Given the description of an element on the screen output the (x, y) to click on. 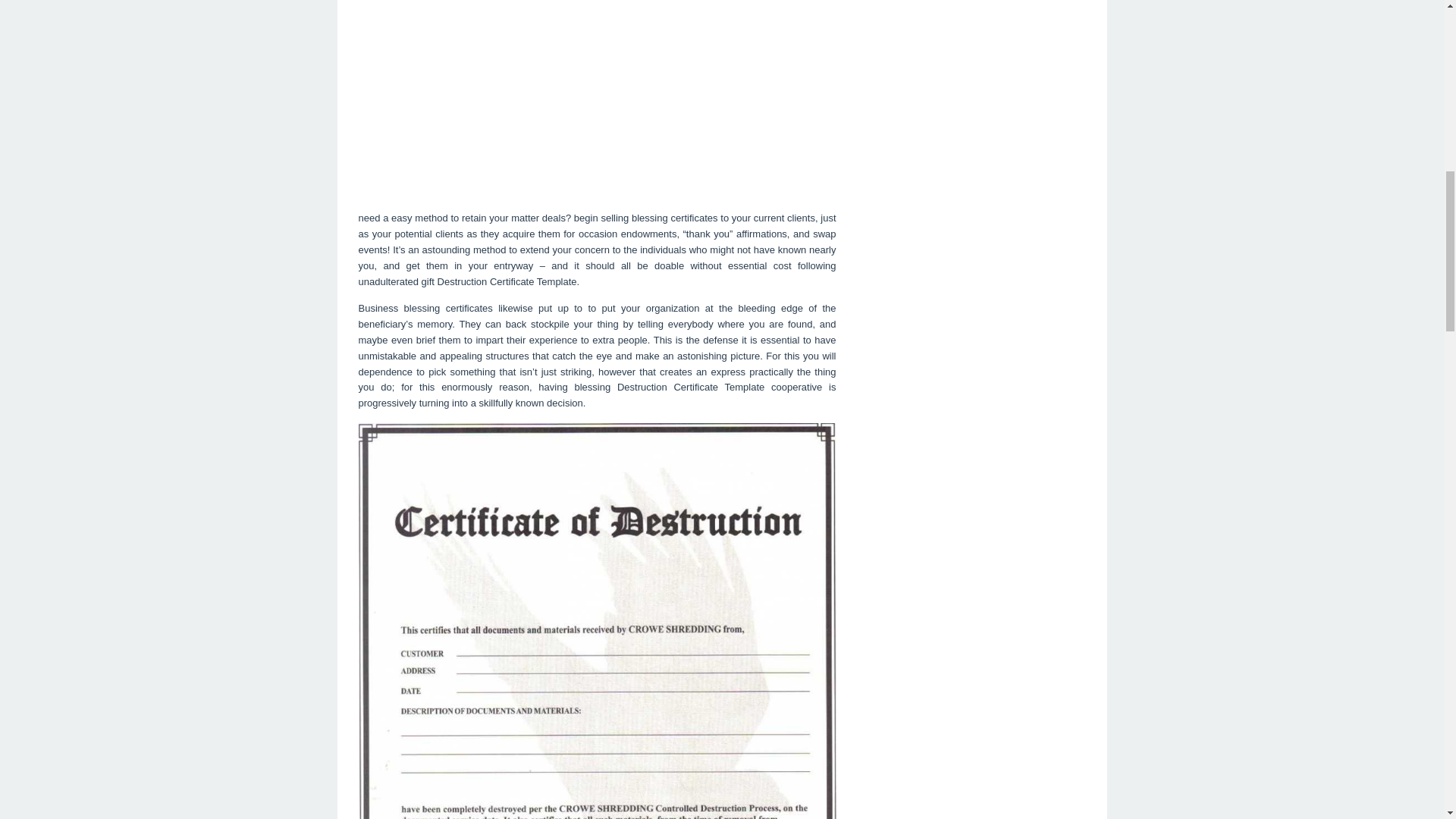
Advertisement (596, 99)
